Given the description of an element on the screen output the (x, y) to click on. 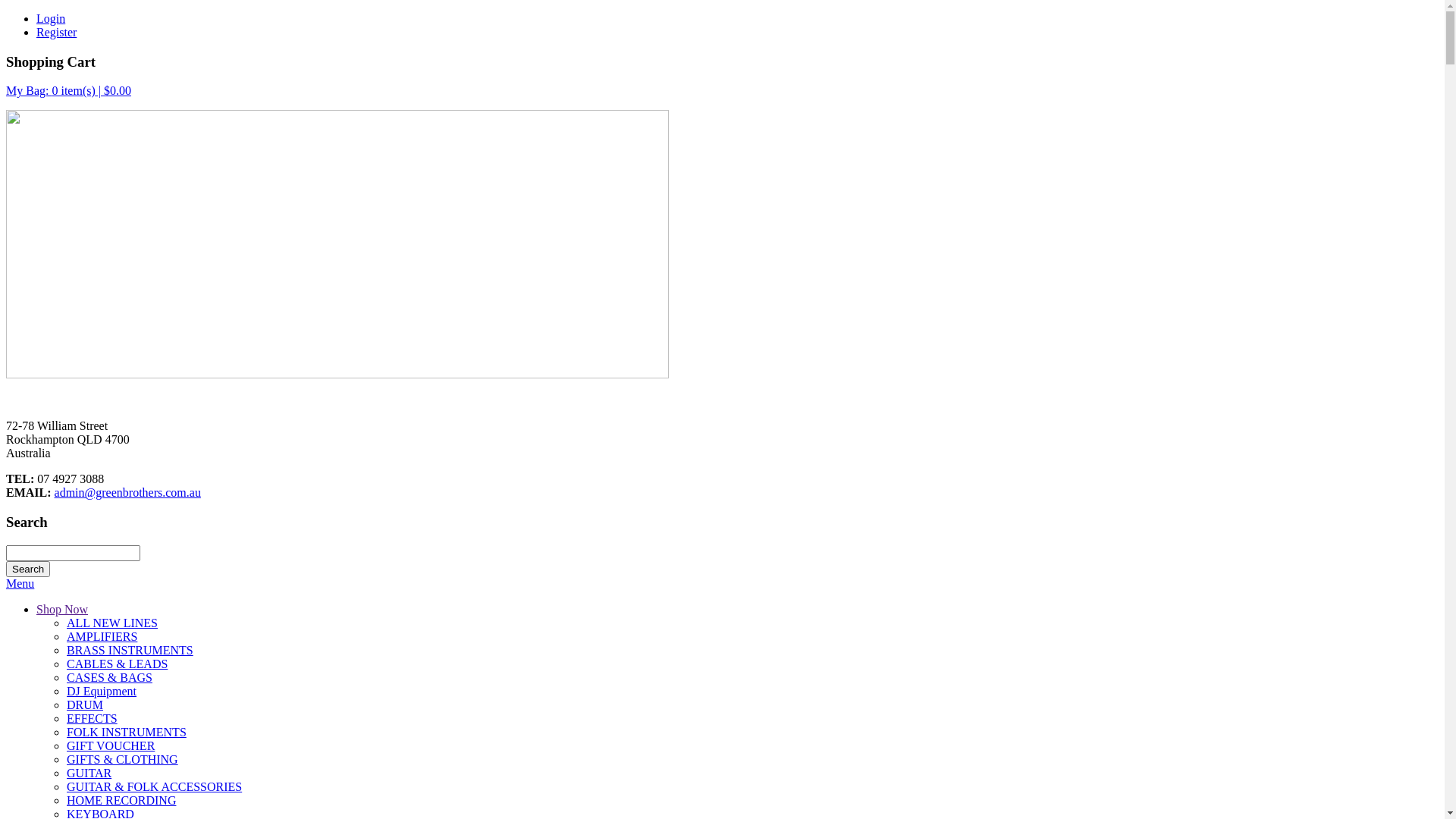
My Bag: 0 item(s) | $0.00 Element type: text (68, 90)
DRUM Element type: text (84, 704)
GUITAR Element type: text (88, 772)
CABLES & LEADS Element type: text (116, 663)
HOME RECORDING Element type: text (120, 799)
EFFECTS Element type: text (91, 718)
FOLK INSTRUMENTS Element type: text (126, 731)
GUITAR & FOLK ACCESSORIES Element type: text (153, 786)
admin@greenbrothers.com.au Element type: text (127, 492)
Menu Element type: text (20, 583)
Login Element type: text (50, 18)
Search Element type: text (28, 569)
GIFT VOUCHER Element type: text (110, 745)
BRASS INSTRUMENTS Element type: text (129, 649)
GIFTS & CLOTHING Element type: text (122, 759)
ALL NEW LINES Element type: text (111, 622)
DJ Equipment Element type: text (101, 690)
Register Element type: text (56, 31)
CASES & BAGS Element type: text (109, 677)
Shop Now Element type: text (61, 608)
AMPLIFIERS Element type: text (101, 636)
